Given the description of an element on the screen output the (x, y) to click on. 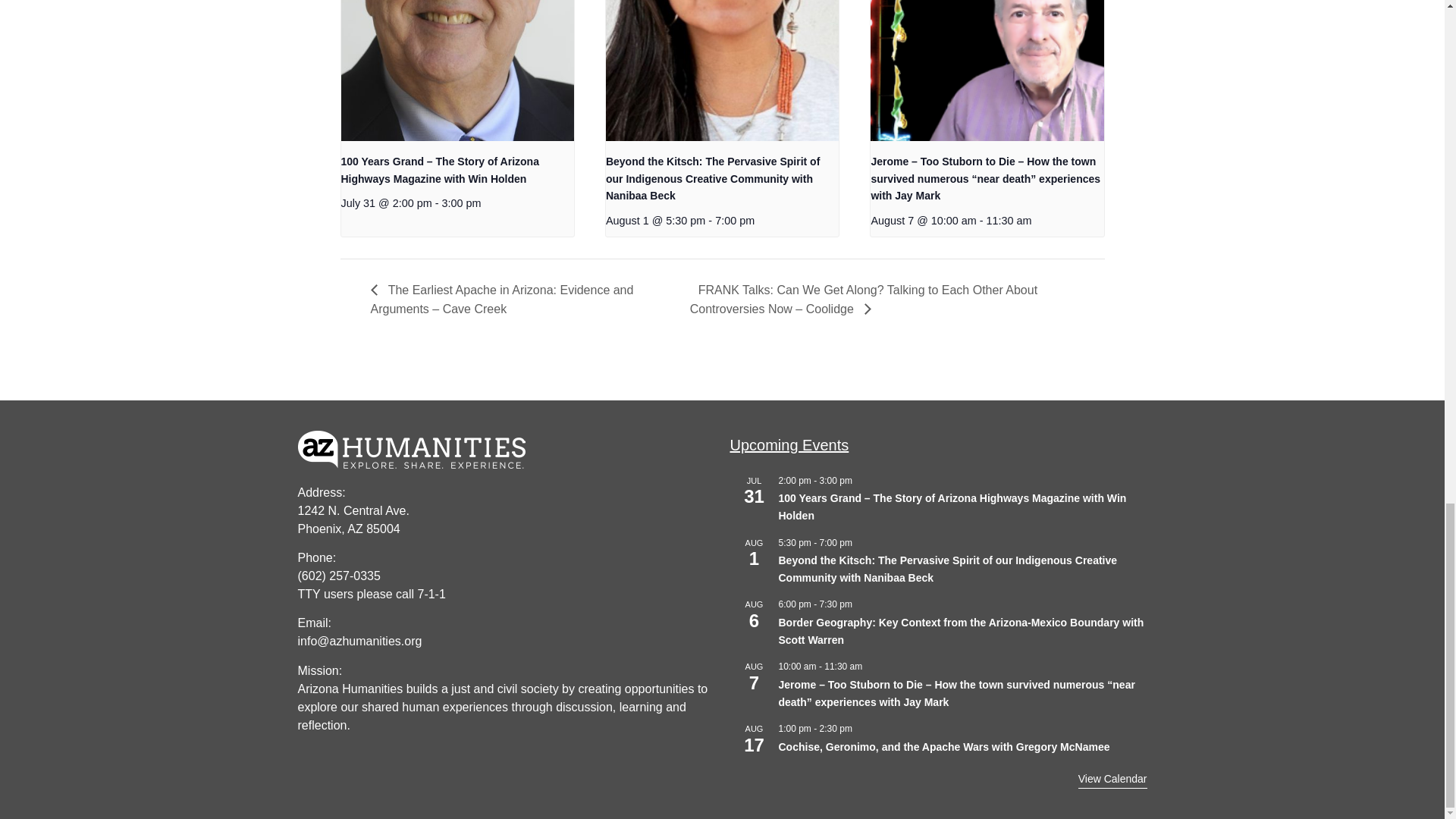
Cochise, Geronimo, and the Apache Wars with Gregory McNamee (943, 747)
View more events. (1112, 779)
